Given the description of an element on the screen output the (x, y) to click on. 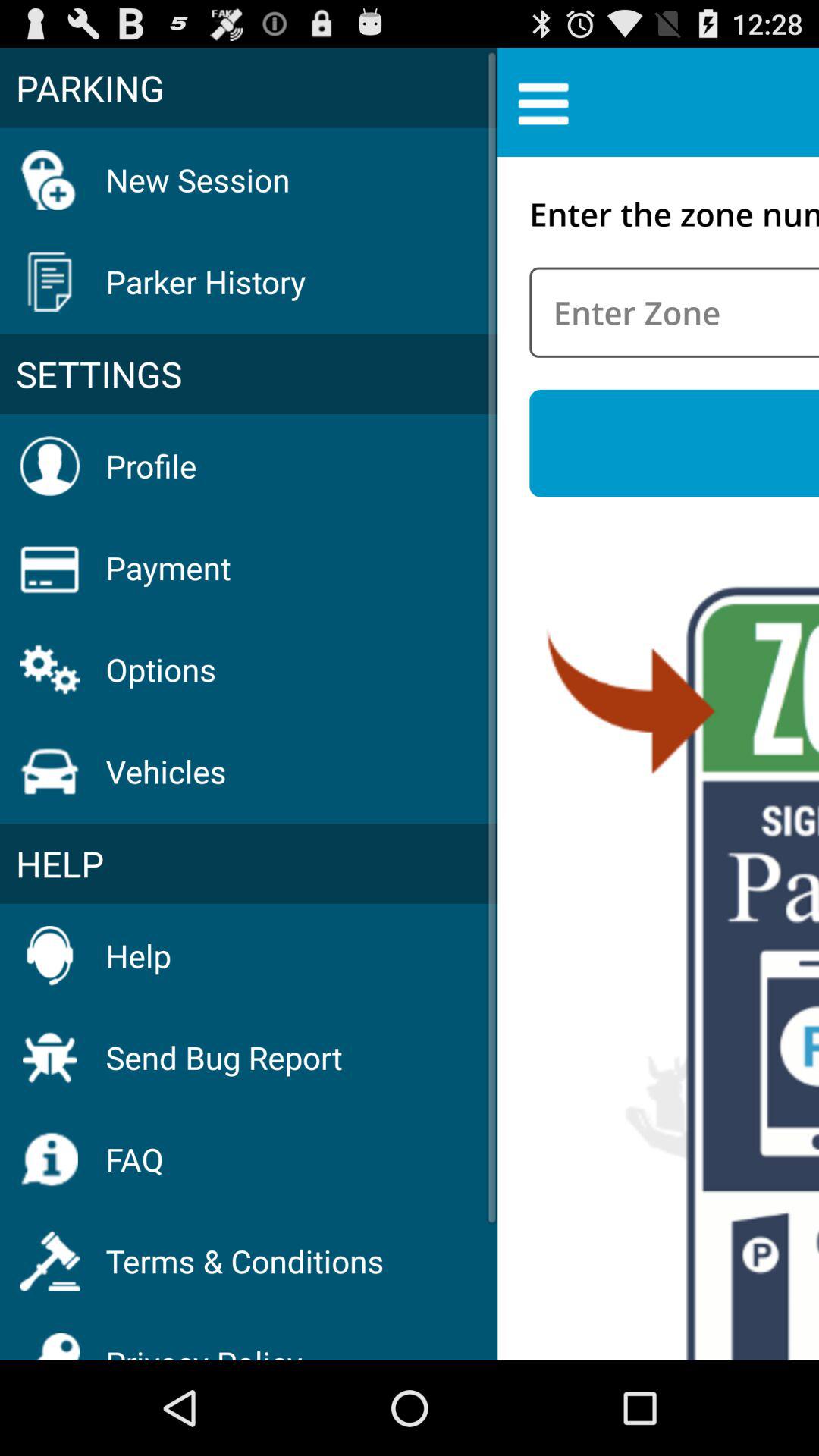
turn on the item above privacy policy icon (244, 1260)
